Given the description of an element on the screen output the (x, y) to click on. 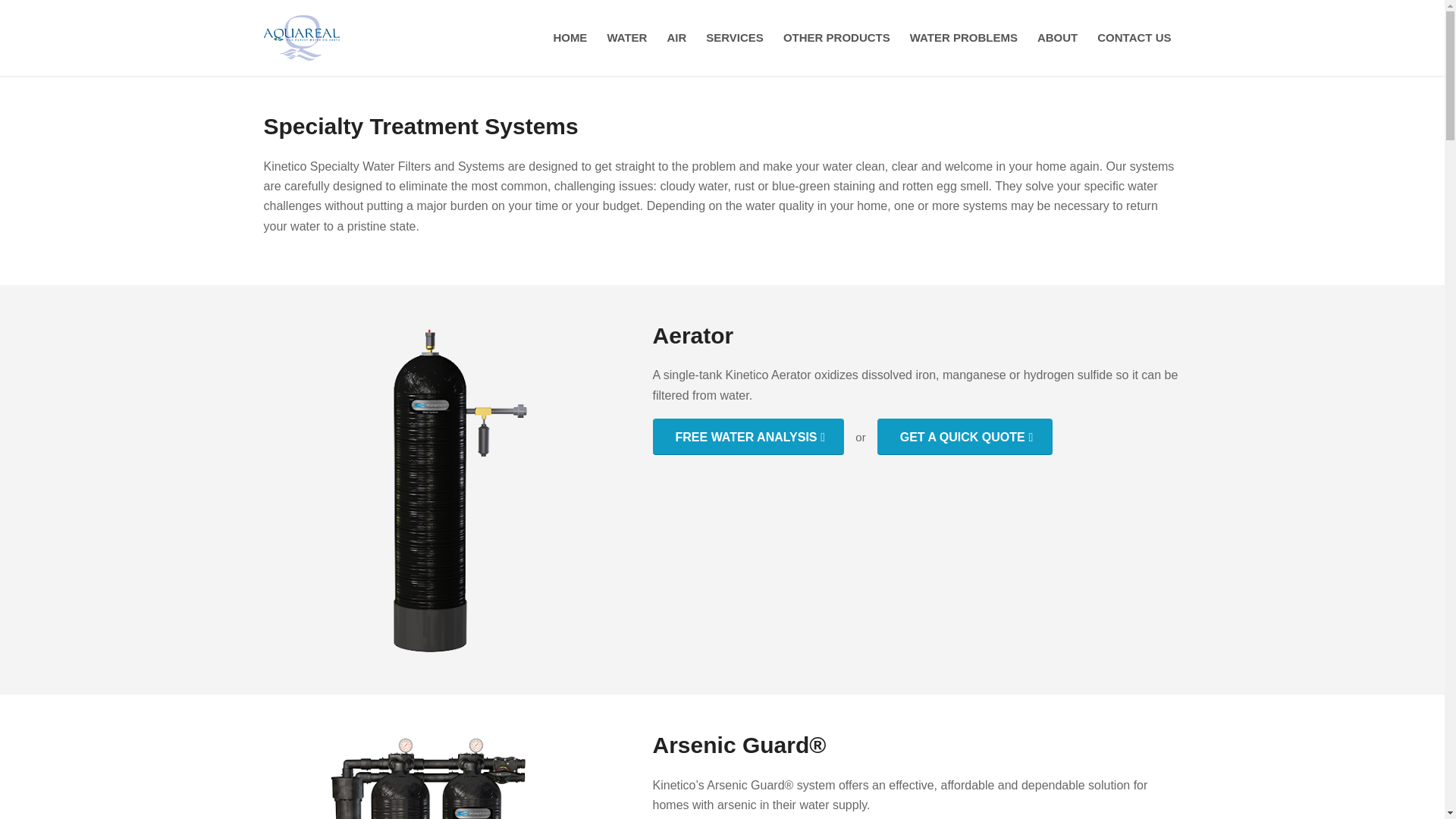
SERVICES (734, 38)
WATER PROBLEMS (963, 38)
OTHER PRODUCTS (836, 38)
Aerator (429, 489)
CONTACT US (1133, 38)
FREE WATER ANALYSIS (748, 436)
GET A QUICK QUOTE (964, 436)
